Given the description of an element on the screen output the (x, y) to click on. 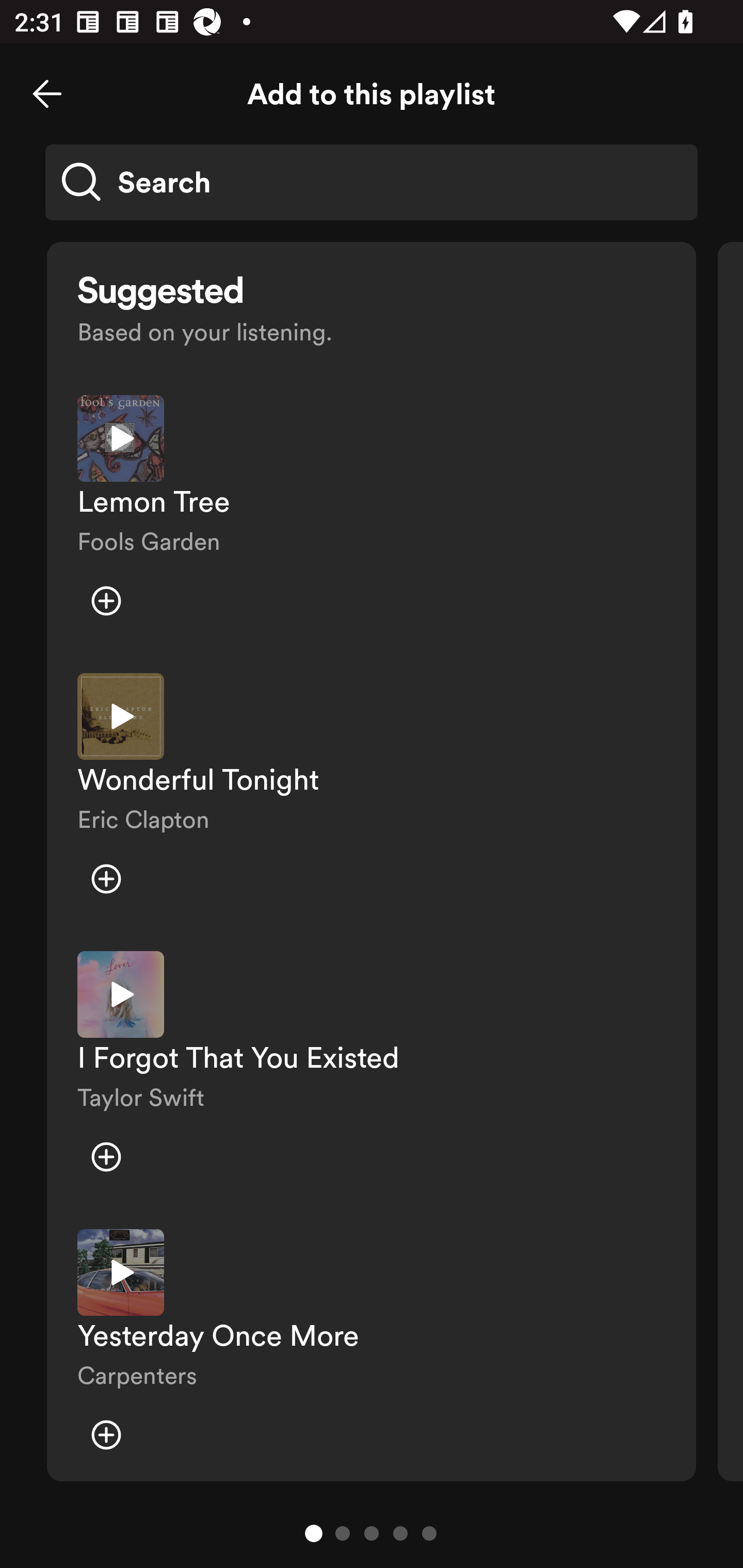
Close (46, 93)
Search (371, 181)
Play preview Lemon Tree Fools Garden Add item (371, 519)
Play preview (120, 438)
Add item (106, 601)
Play preview (120, 716)
Add item (106, 878)
Play preview (120, 994)
Add item (106, 1156)
Play preview (120, 1272)
Add item (106, 1435)
